Given the description of an element on the screen output the (x, y) to click on. 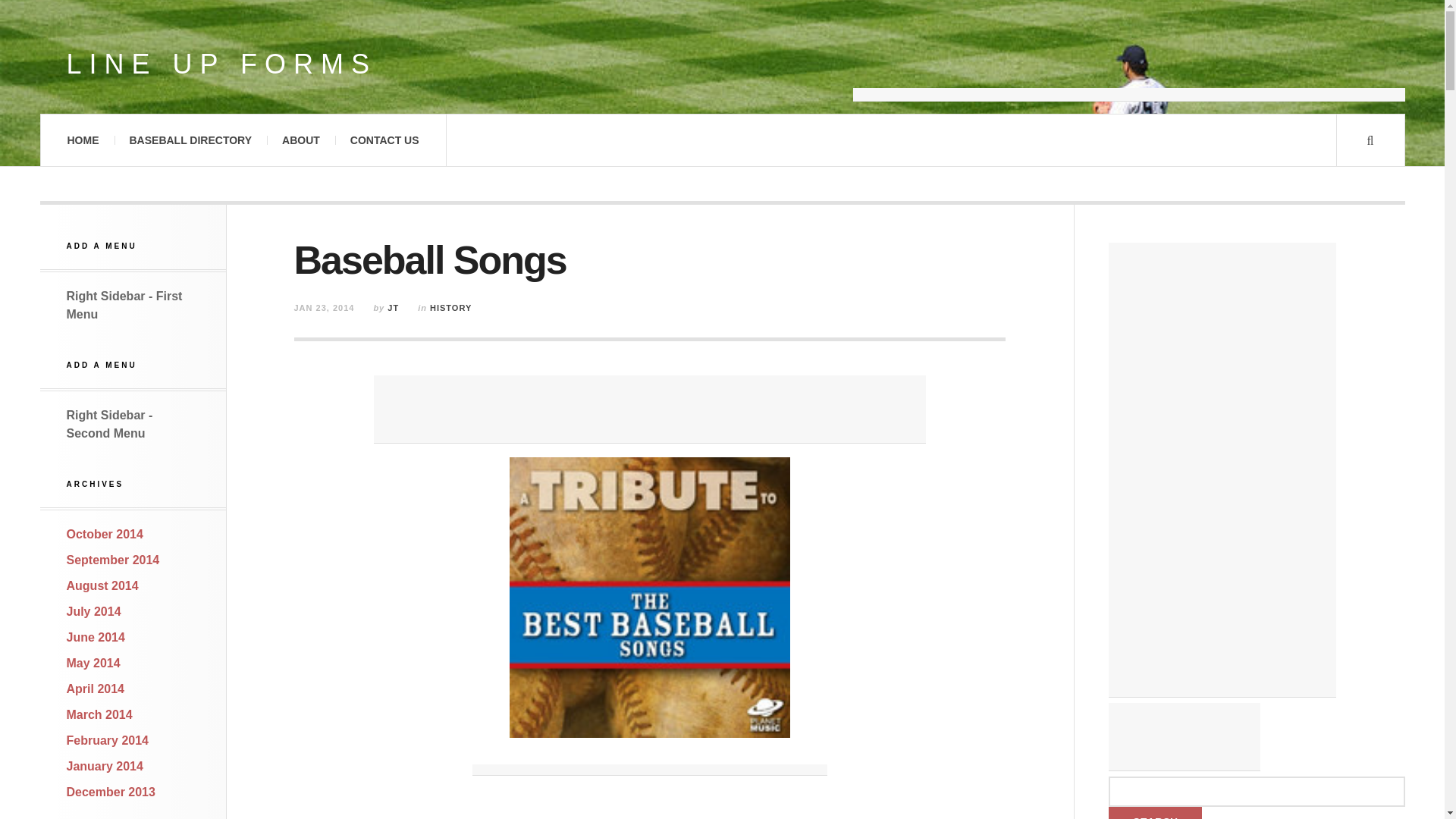
JT (392, 307)
Search (1155, 812)
Advertisement (1184, 736)
Right Sidebar - First Menu (124, 305)
June 2014 (95, 636)
March 2014 (99, 714)
May 2014 (93, 662)
LINE UP FORMS (221, 64)
Search (1155, 812)
September 2014 (113, 559)
HISTORY (450, 307)
August 2014 (102, 585)
October 2014 (104, 533)
BASEBALL DIRECTORY (189, 140)
April 2014 (94, 688)
